Given the description of an element on the screen output the (x, y) to click on. 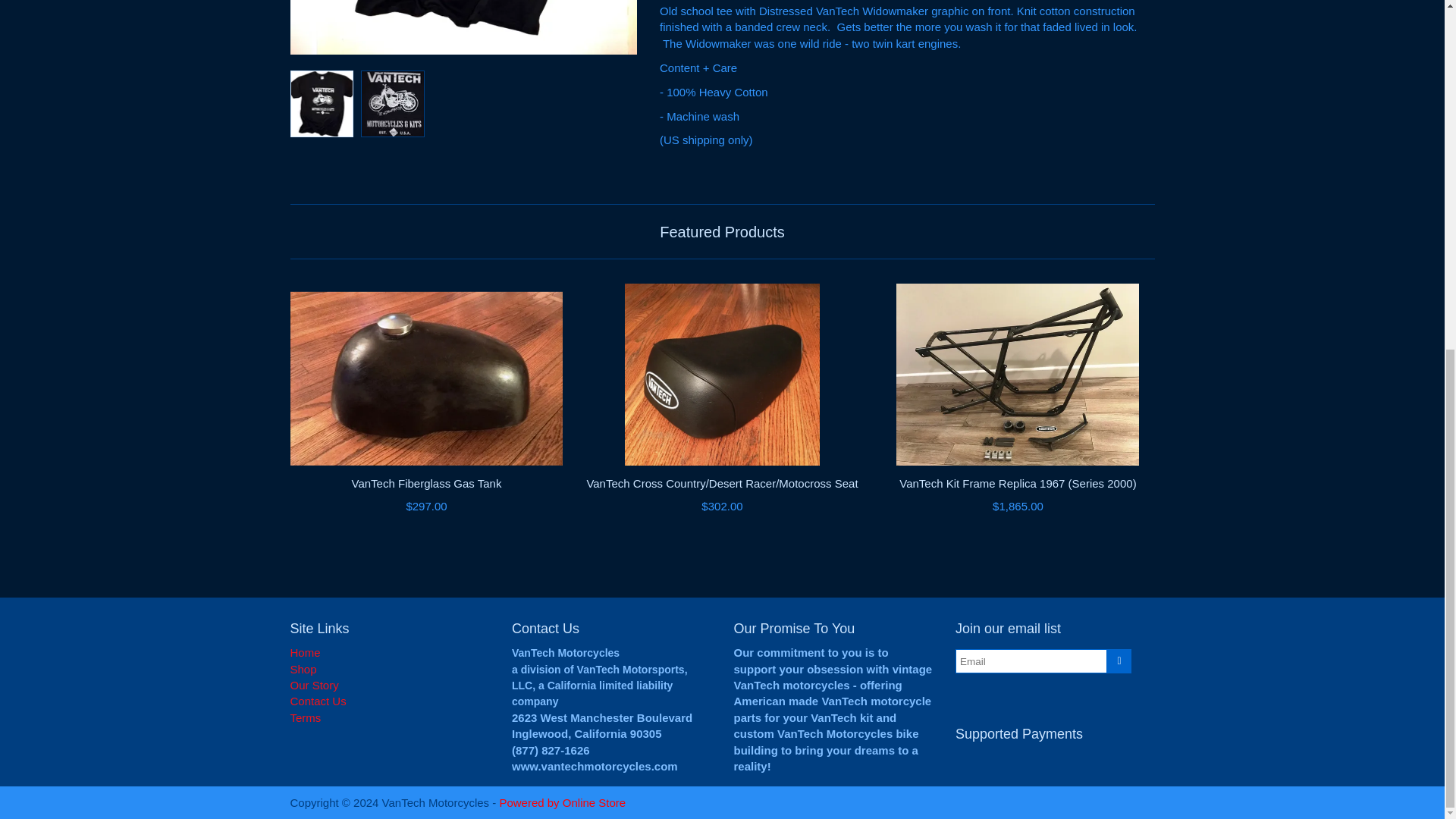
Our Story (313, 684)
Shop (302, 668)
Powered by Online Store (562, 802)
Terms (304, 717)
Contact Us (317, 700)
Home (304, 652)
VanTech Fiberglass Gas Tank (425, 386)
